Given the description of an element on the screen output the (x, y) to click on. 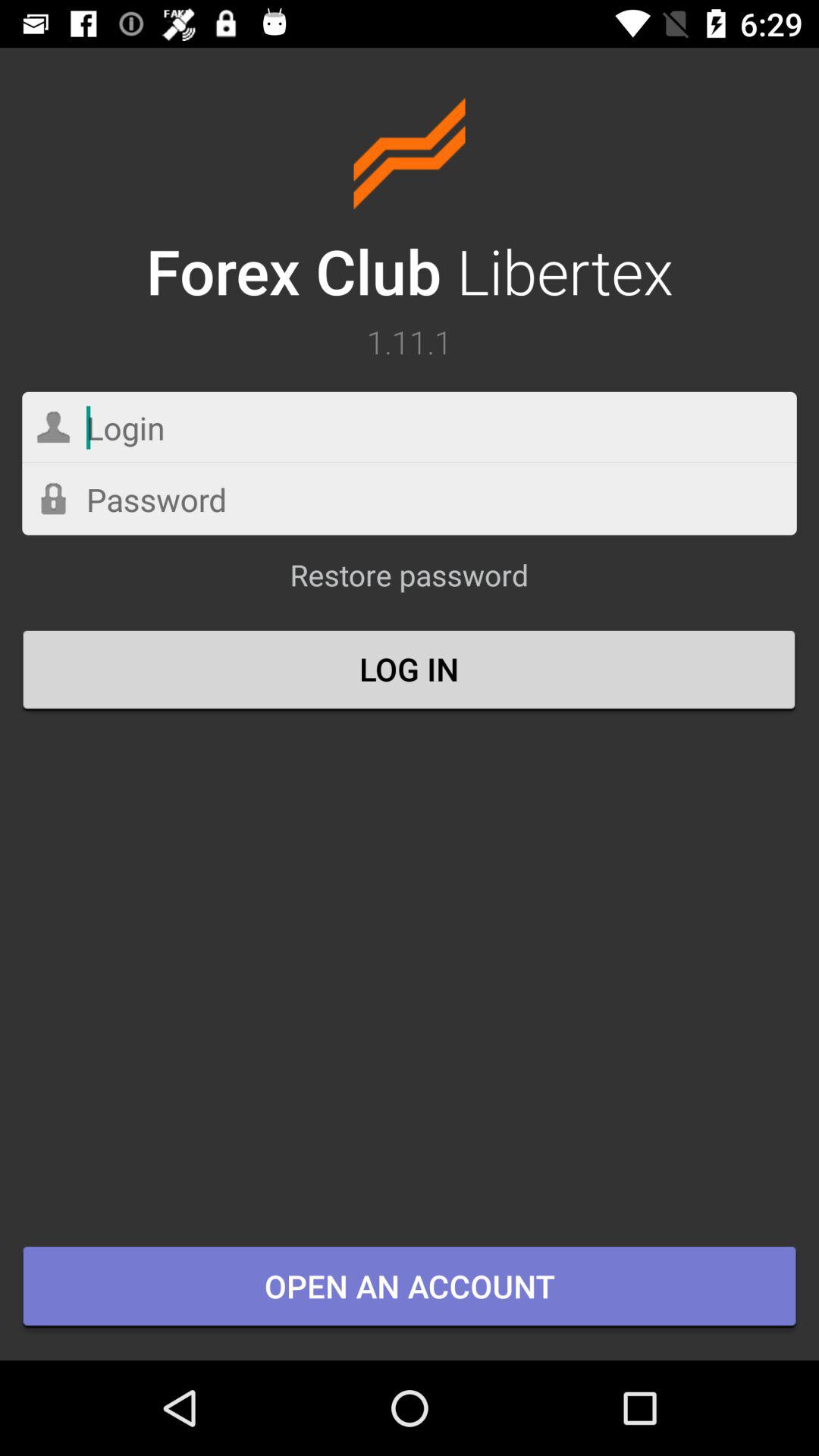
click icon below restore password icon (409, 671)
